Given the description of an element on the screen output the (x, y) to click on. 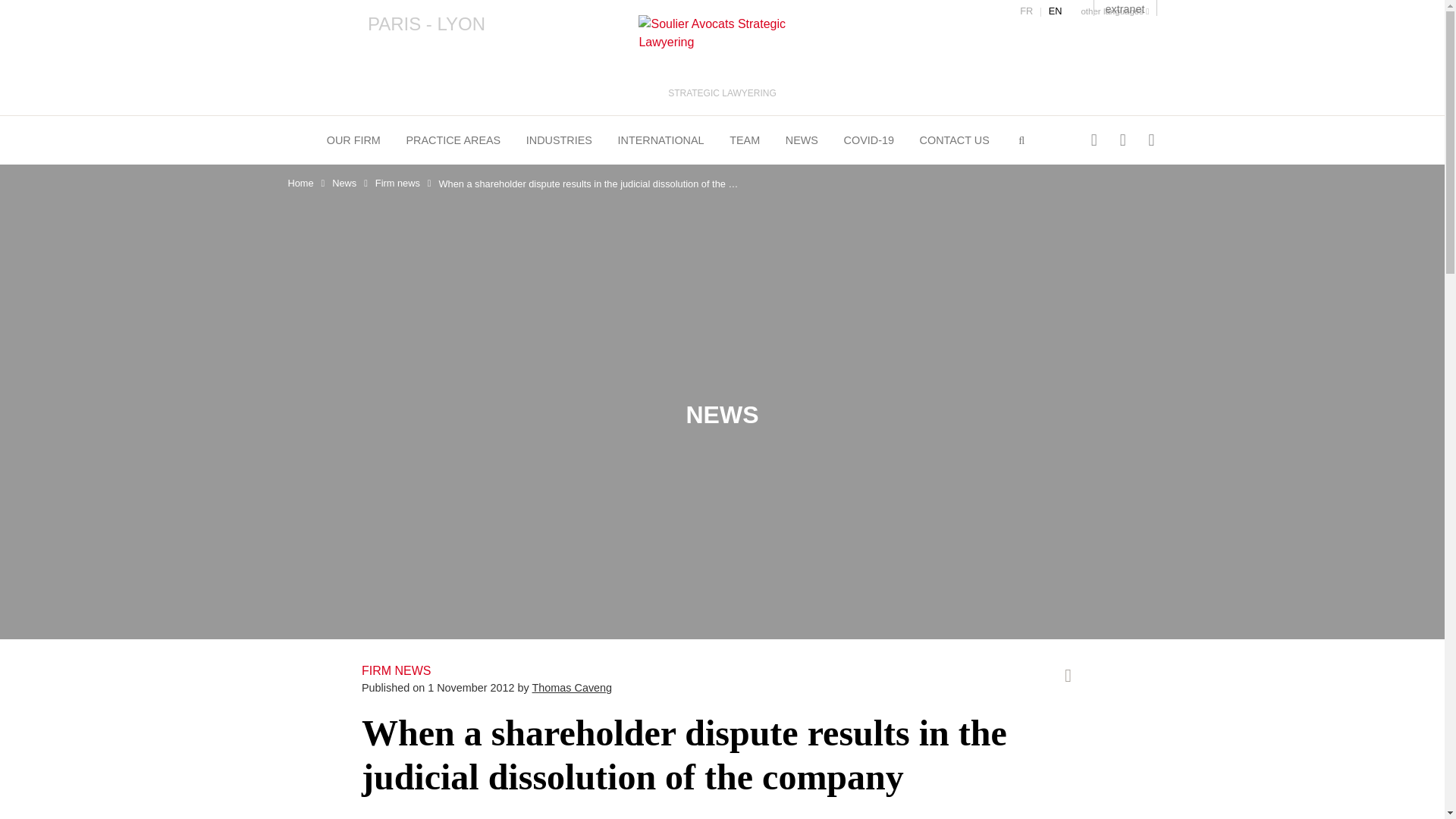
EN (1055, 10)
OUR FIRM (353, 140)
PRACTICE AREAS (453, 140)
CONTACT US (955, 140)
FR (1026, 10)
TEAM (744, 140)
NEWS (802, 140)
extranet (1125, 7)
COVID-19 (868, 140)
INTERNATIONAL (660, 140)
INDUSTRIES (558, 140)
HOME (293, 138)
STRATEGIC LAWYERING (722, 57)
